Given the description of an element on the screen output the (x, y) to click on. 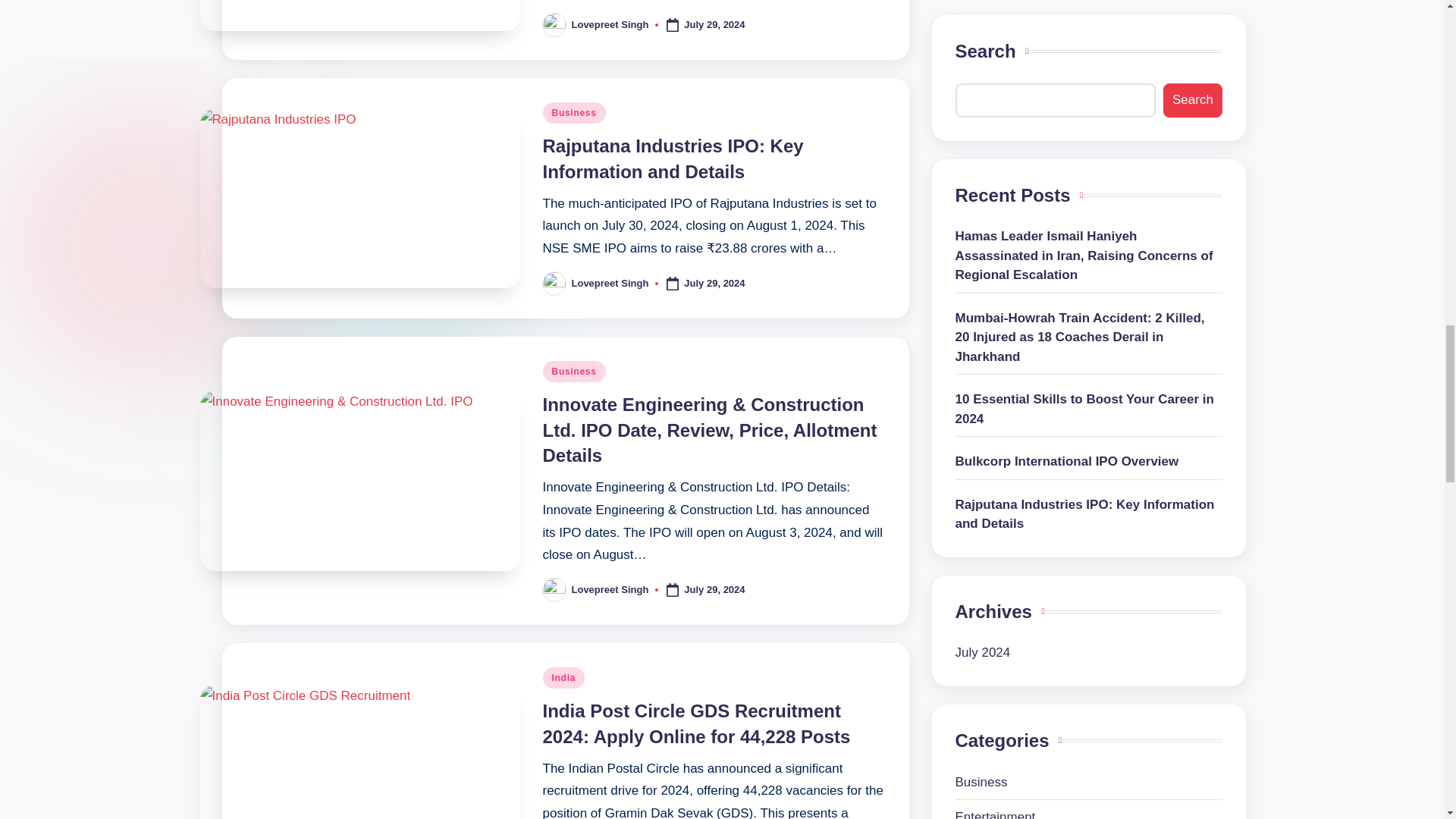
View all posts by Lovepreet Singh (610, 283)
View all posts by Lovepreet Singh (610, 24)
Rajputana Industries IPO: Key Information and Details (673, 158)
